Given the description of an element on the screen output the (x, y) to click on. 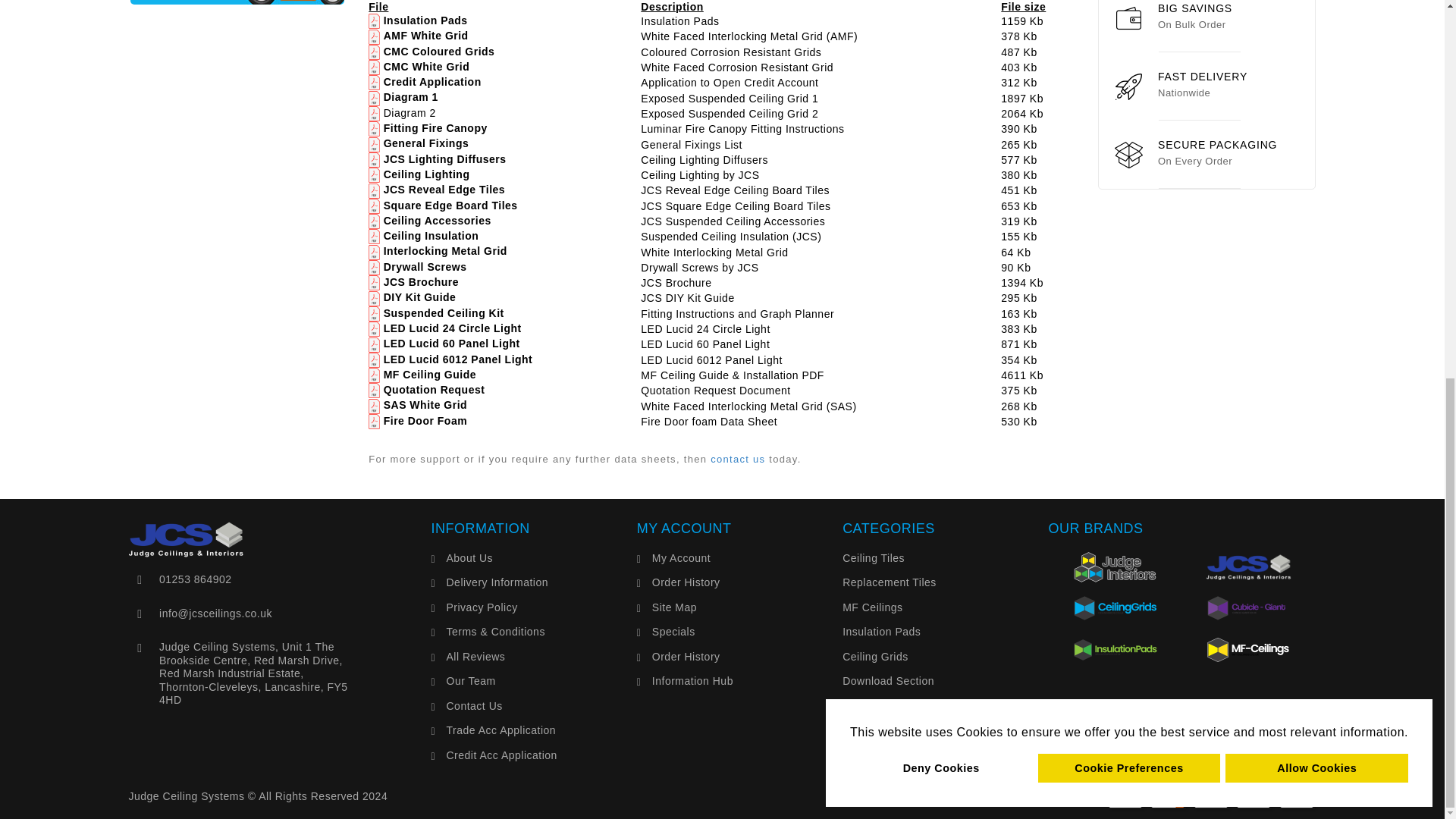
Allow Cookies (1316, 68)
Cookie Preferences (1129, 68)
Deny Cookies (941, 68)
